Given the description of an element on the screen output the (x, y) to click on. 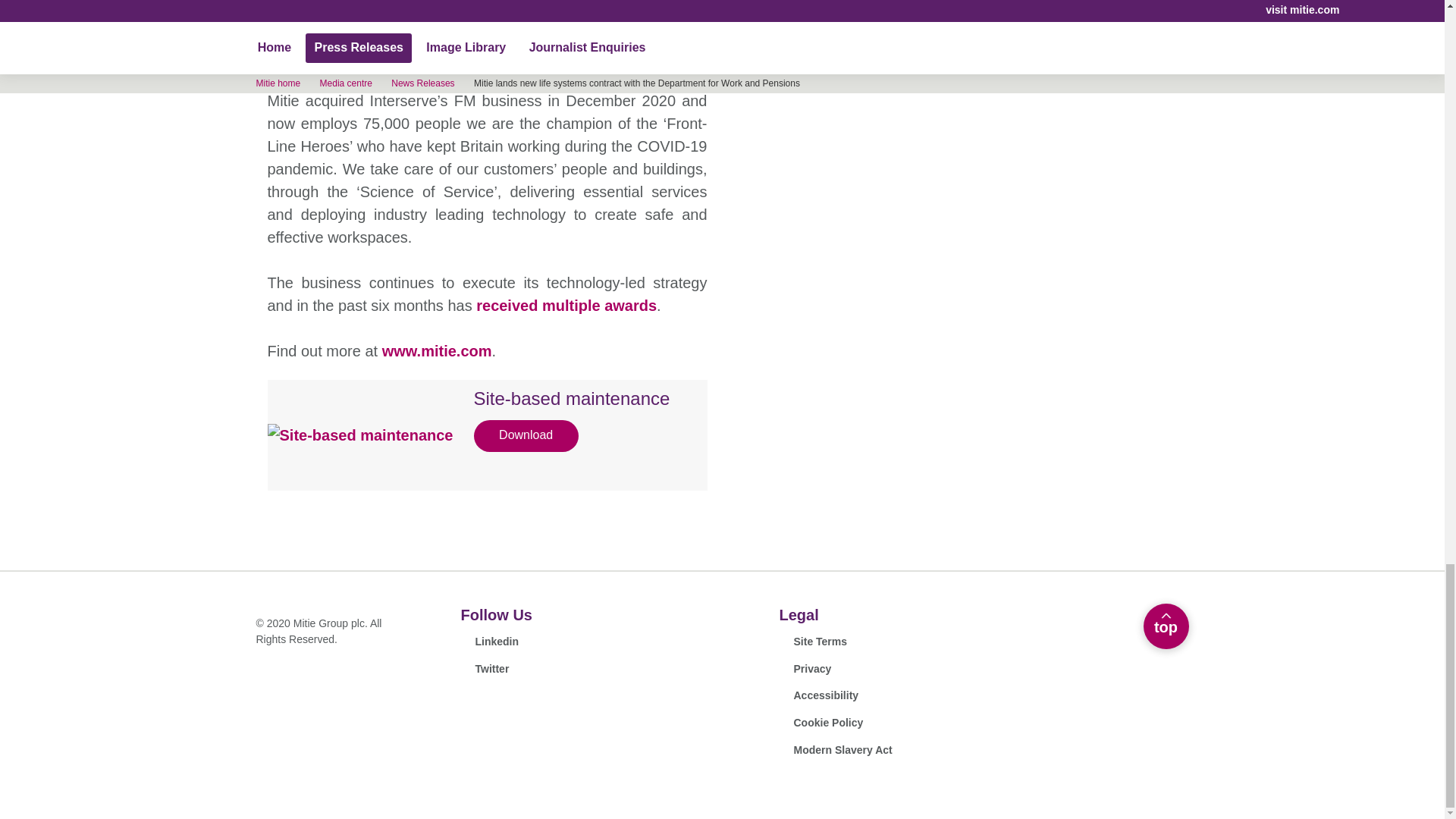
Twitter (485, 668)
Modern Slavery Act (835, 750)
Accessibility (818, 695)
Linkedin (1165, 626)
Legal (490, 641)
Site Terms (850, 614)
www.mitie.com (812, 641)
Site-based maintenance (436, 351)
Cookie Policy (574, 413)
